Given the description of an element on the screen output the (x, y) to click on. 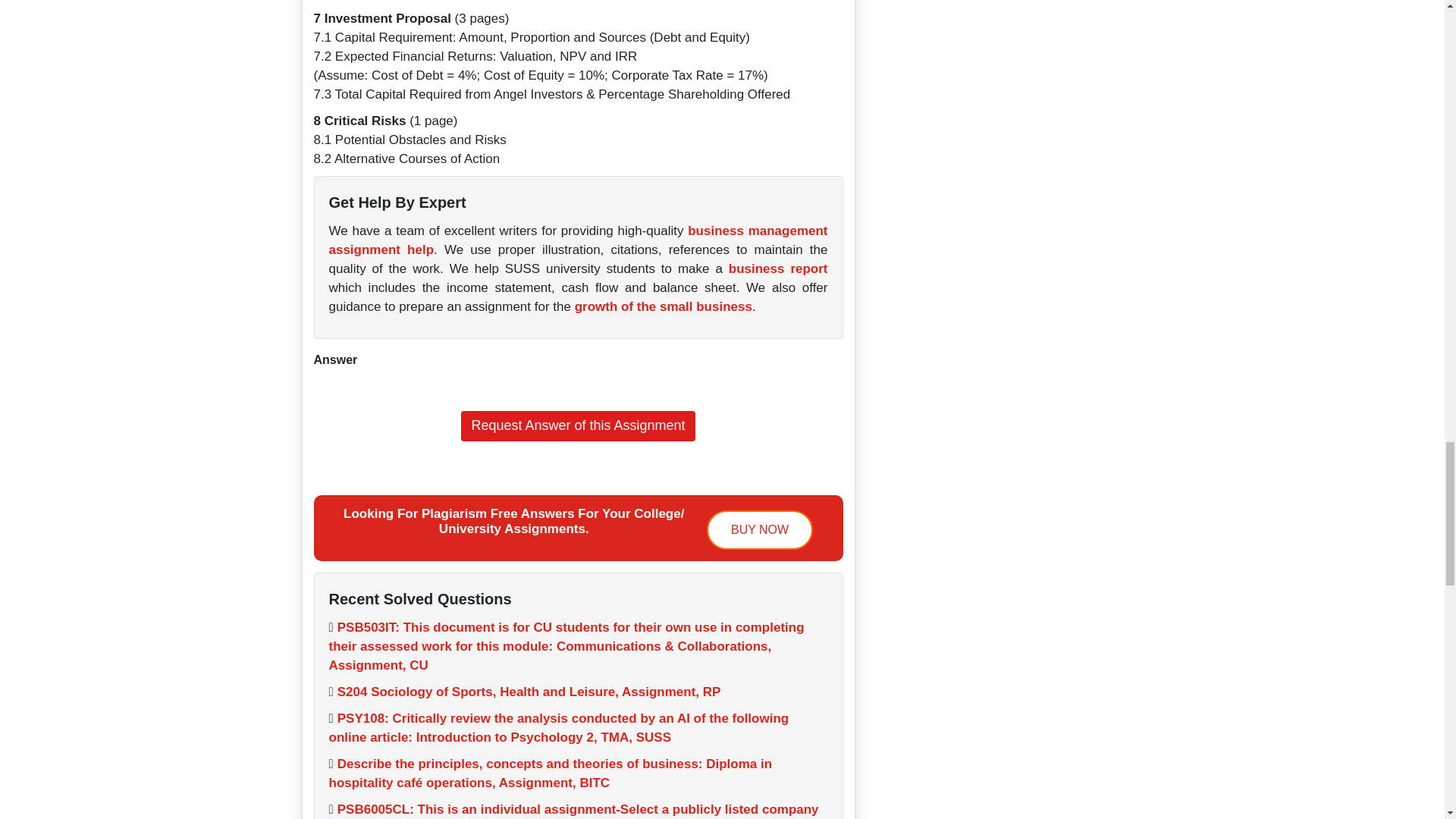
S204 Sociology of Sports, Health and Leisure, Assignment, RP (528, 691)
Business Management Assignment Help (578, 240)
Business Finance Report Assignment Help (778, 268)
